Given the description of an element on the screen output the (x, y) to click on. 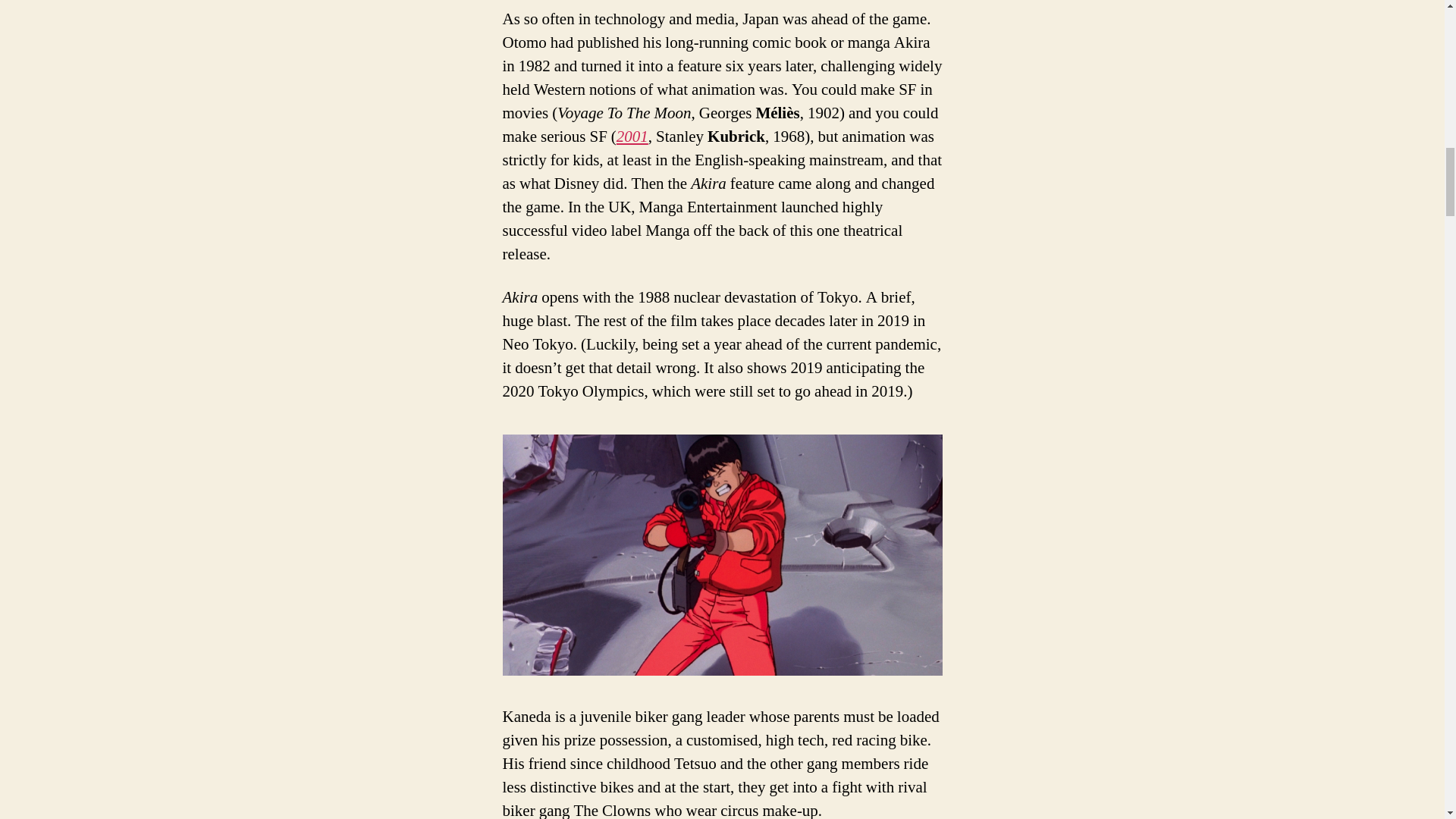
2001 (631, 136)
